Given the description of an element on the screen output the (x, y) to click on. 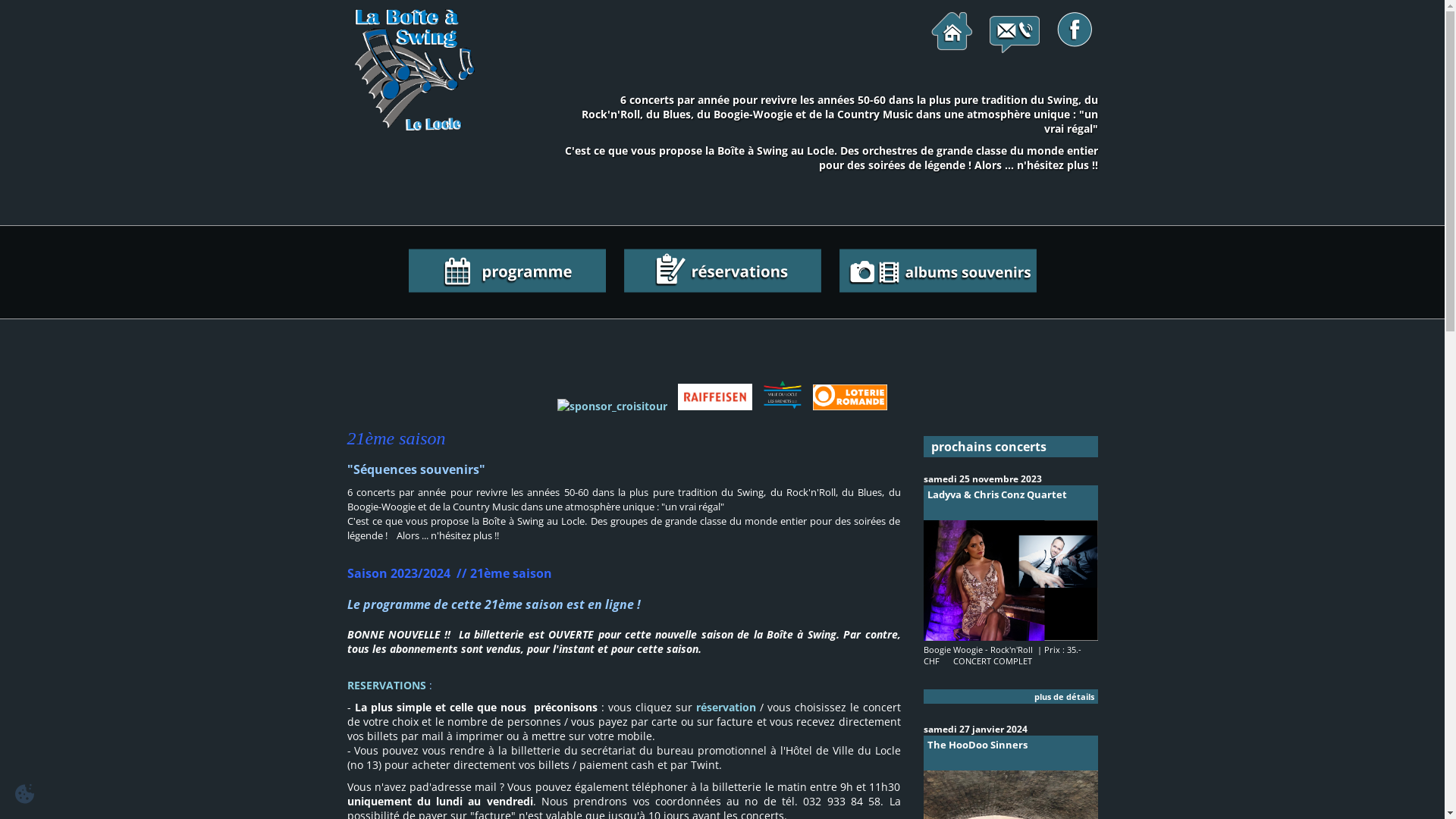
contactez-nous! Element type: hover (1014, 33)
le programme de la saison Element type: hover (506, 270)
Ladyva & Chris Conz Quartet Element type: text (1010, 502)
albums souvenirs Element type: hover (936, 270)
The HooDoo Sinners Element type: text (1010, 752)
RESERVATIONS Element type: text (386, 684)
page d'accueil Element type: hover (952, 33)
